Given the description of an element on the screen output the (x, y) to click on. 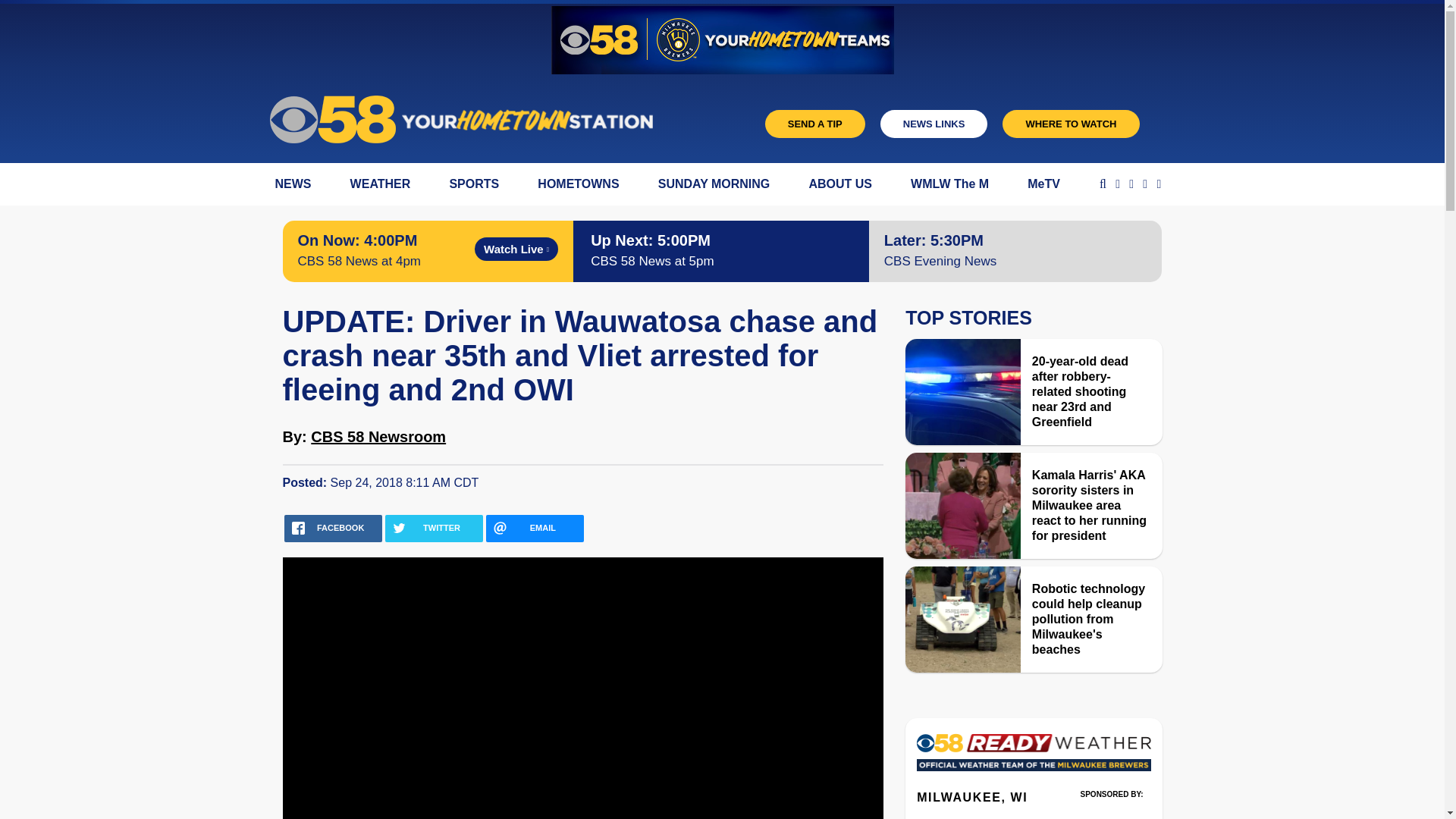
3rd party ad content (1112, 811)
Weather (1033, 757)
